Given the description of an element on the screen output the (x, y) to click on. 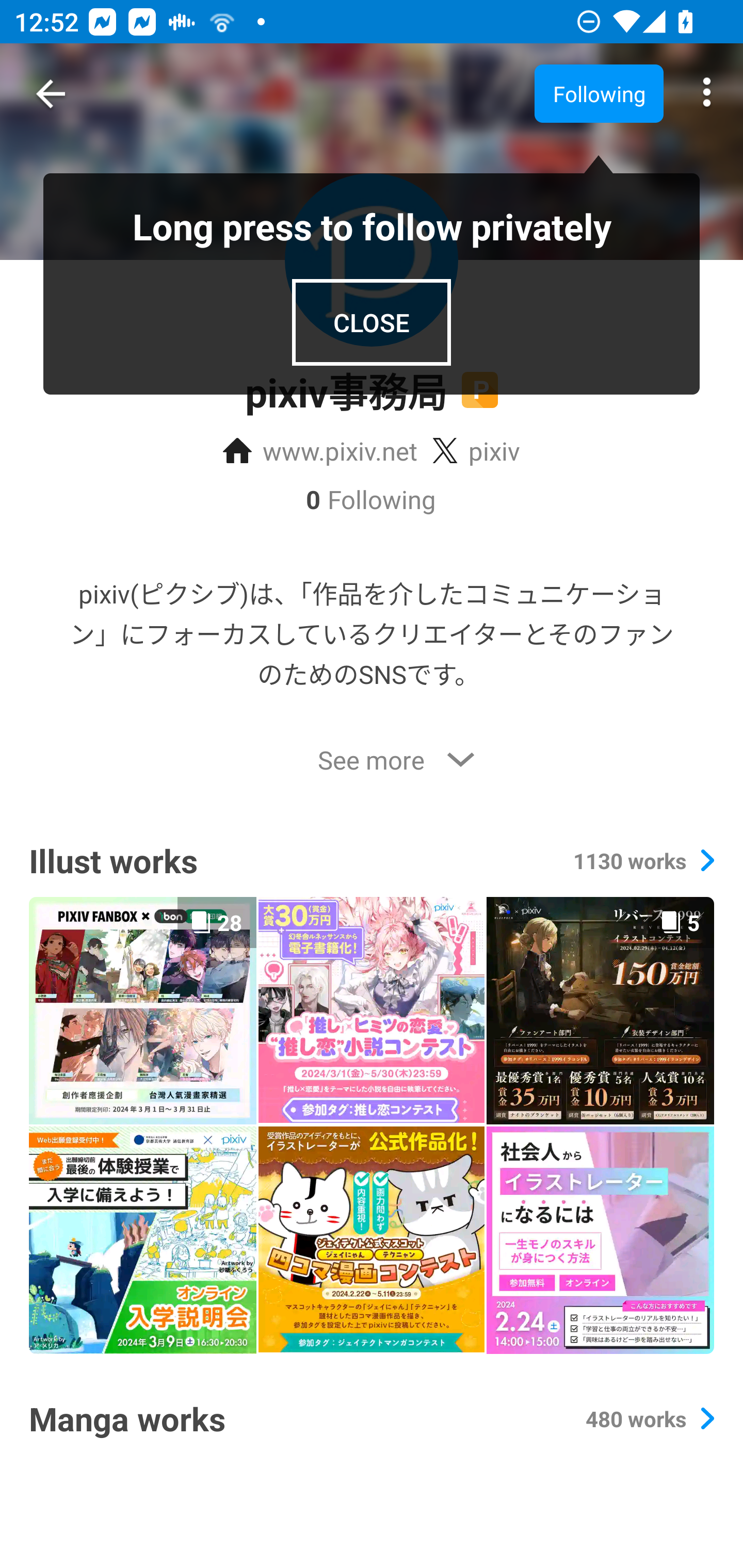
Navigate up (50, 93)
More options (706, 93)
Following (598, 93)
CLOSE (371, 322)
www.pixiv.net (319, 450)
pixiv (476, 450)
0 Following (371, 498)
See more (371, 760)
1130 works (643, 859)
28 (142, 1010)
5 (600, 1010)
480 works (649, 1418)
